Given the description of an element on the screen output the (x, y) to click on. 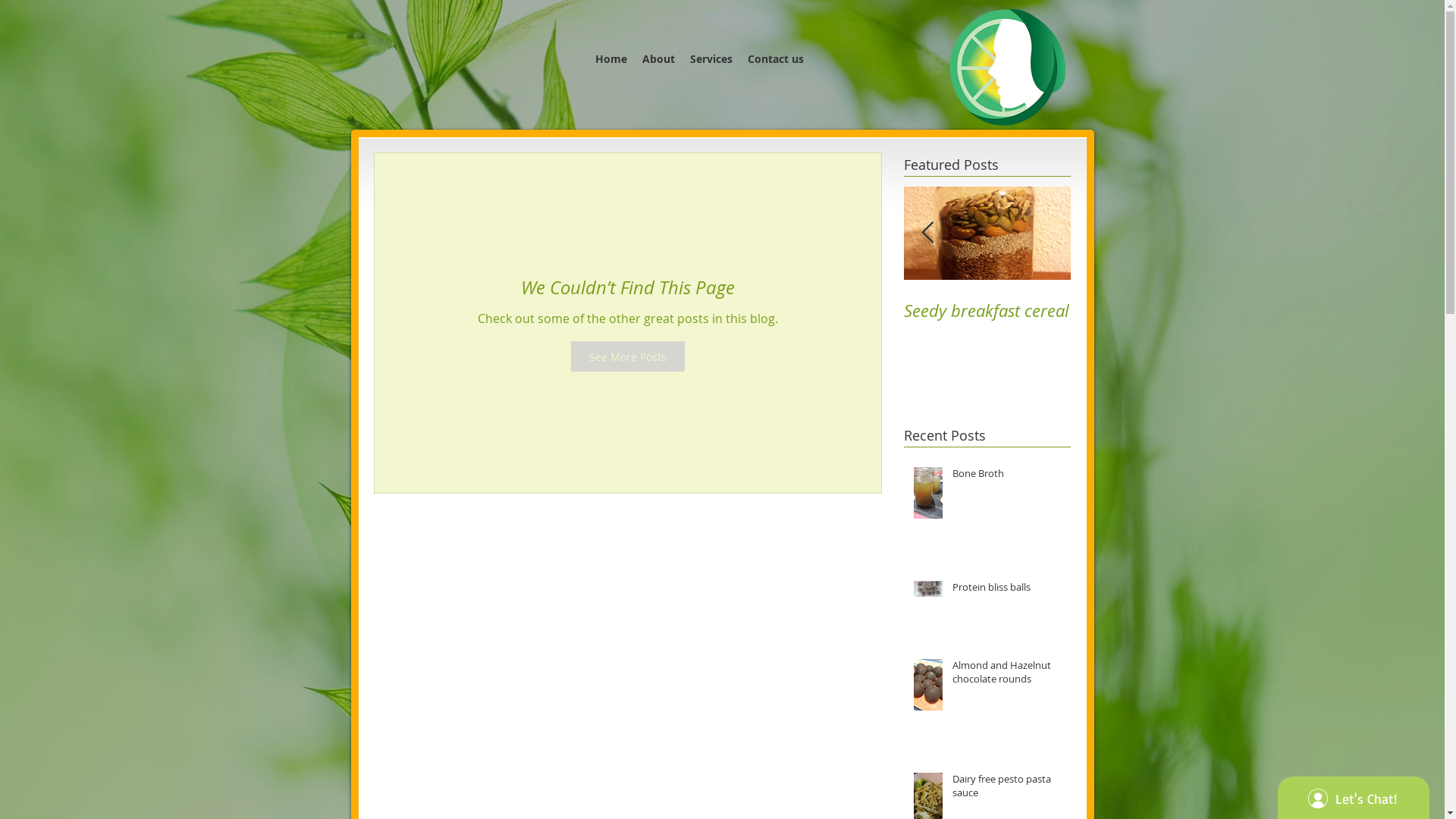
Chocolate chia pudding Element type: text (820, 321)
Home Element type: text (610, 58)
Dairy free pesto pasta sauce Element type: text (1006, 788)
Buckwheat Easter crispie cakes Element type: text (653, 321)
Seedy breakfast cereal Element type: text (986, 310)
Chicken nuggets and Kumara chips Element type: text (486, 321)
About Element type: text (658, 58)
Almond and Hazelnut chocolate rounds Element type: text (1006, 674)
Almond and Hazelnut chocolate rounds Element type: text (319, 321)
Services Element type: text (711, 58)
Contact us Element type: text (775, 58)
Get Me Healthy Element type: hover (1007, 67)
Protein bliss balls Element type: text (1006, 589)
Bone Broth Element type: text (1006, 476)
See More Posts Element type: text (627, 356)
